Given the description of an element on the screen output the (x, y) to click on. 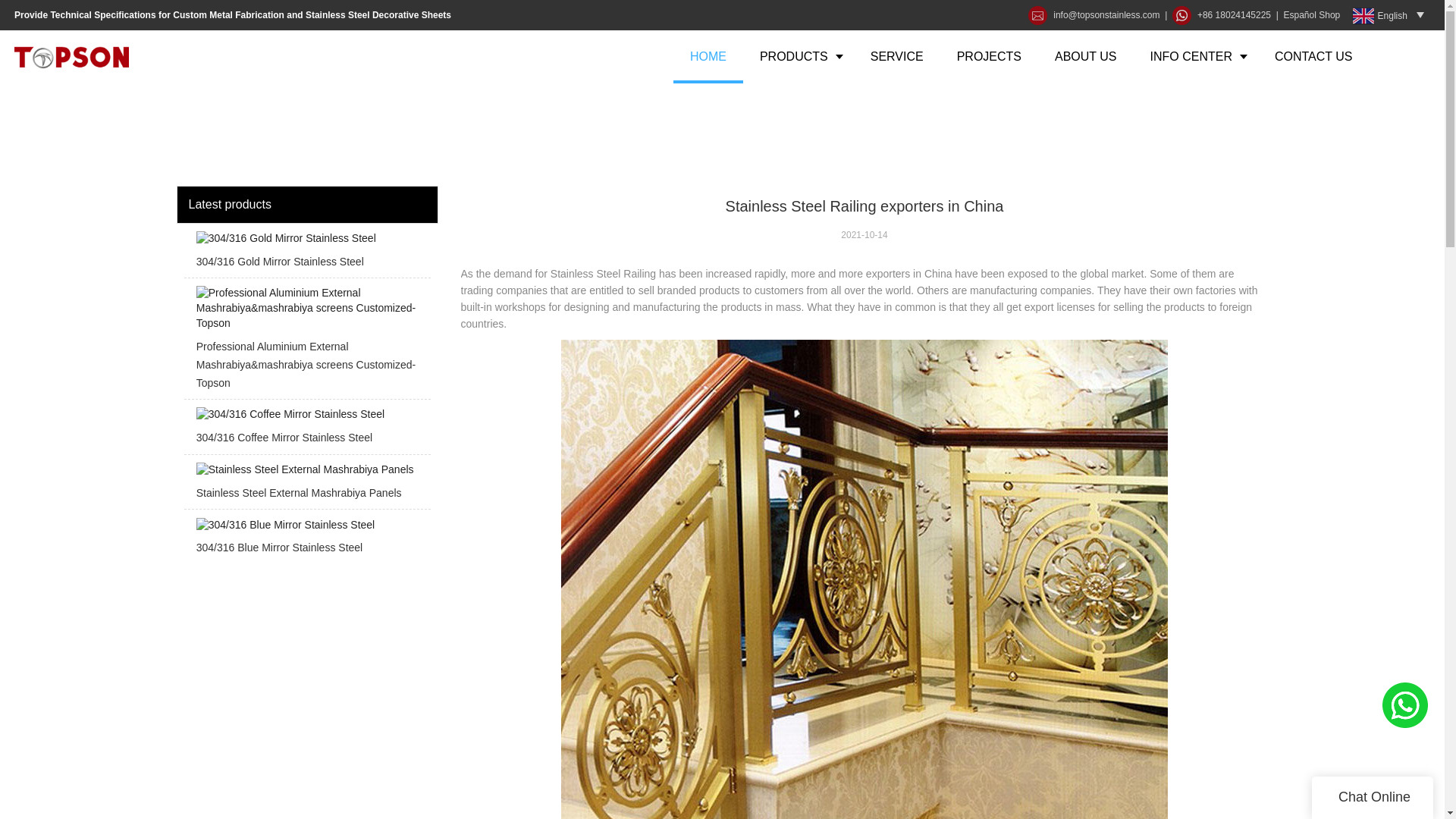
PROJECTS (989, 56)
PRODUCTS (797, 56)
SERVICE (896, 56)
HOME (707, 56)
Stainless Steel External Mashrabiya Panels (306, 485)
CONTACT US (1313, 56)
ABOUT US (1086, 56)
INFO CENTER (1195, 56)
